Given the description of an element on the screen output the (x, y) to click on. 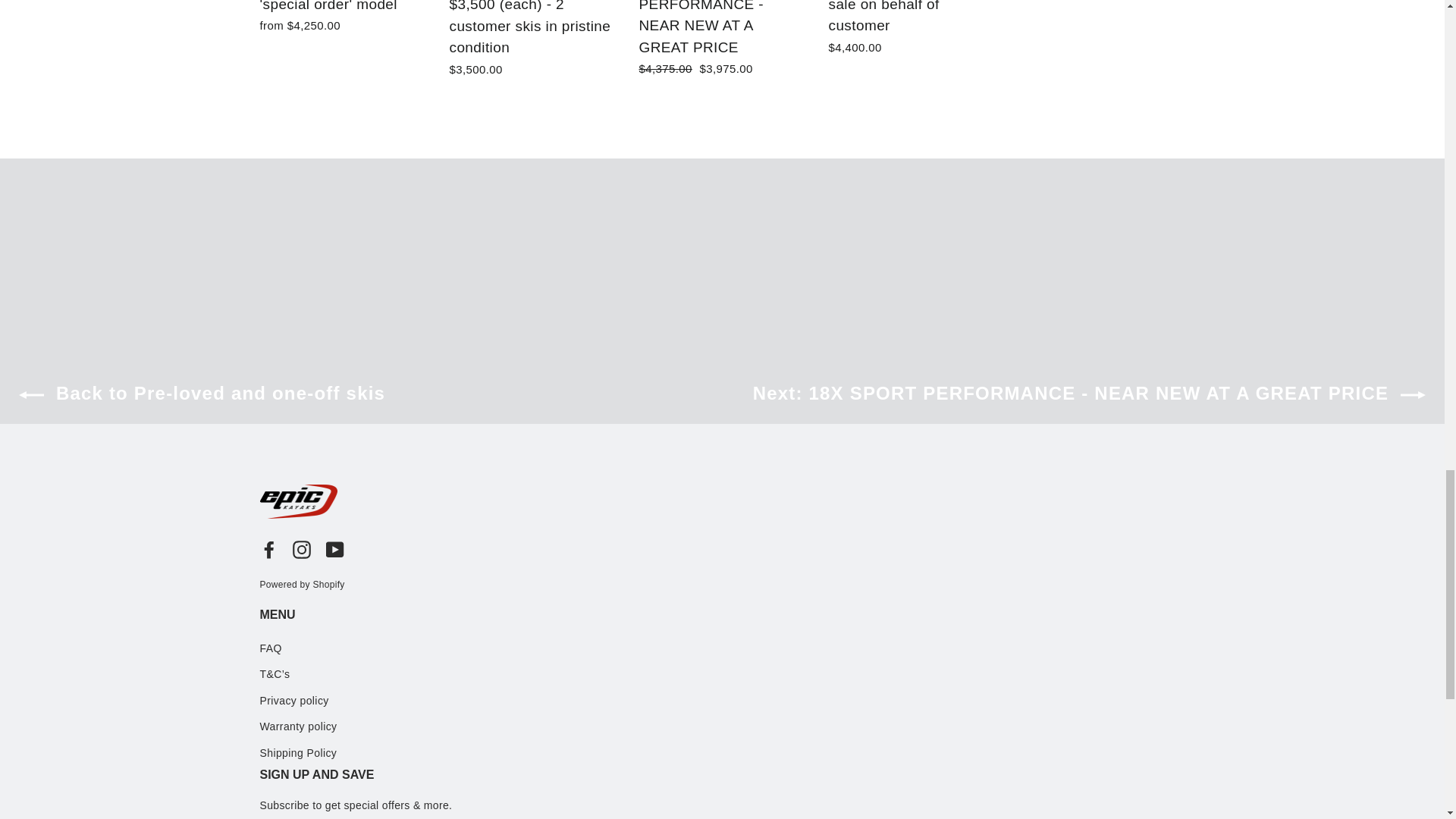
Epic Kayaks Australia on YouTube (334, 548)
Epic Kayaks Australia on Facebook (268, 548)
Epic Kayaks Australia on Instagram (301, 548)
